Given the description of an element on the screen output the (x, y) to click on. 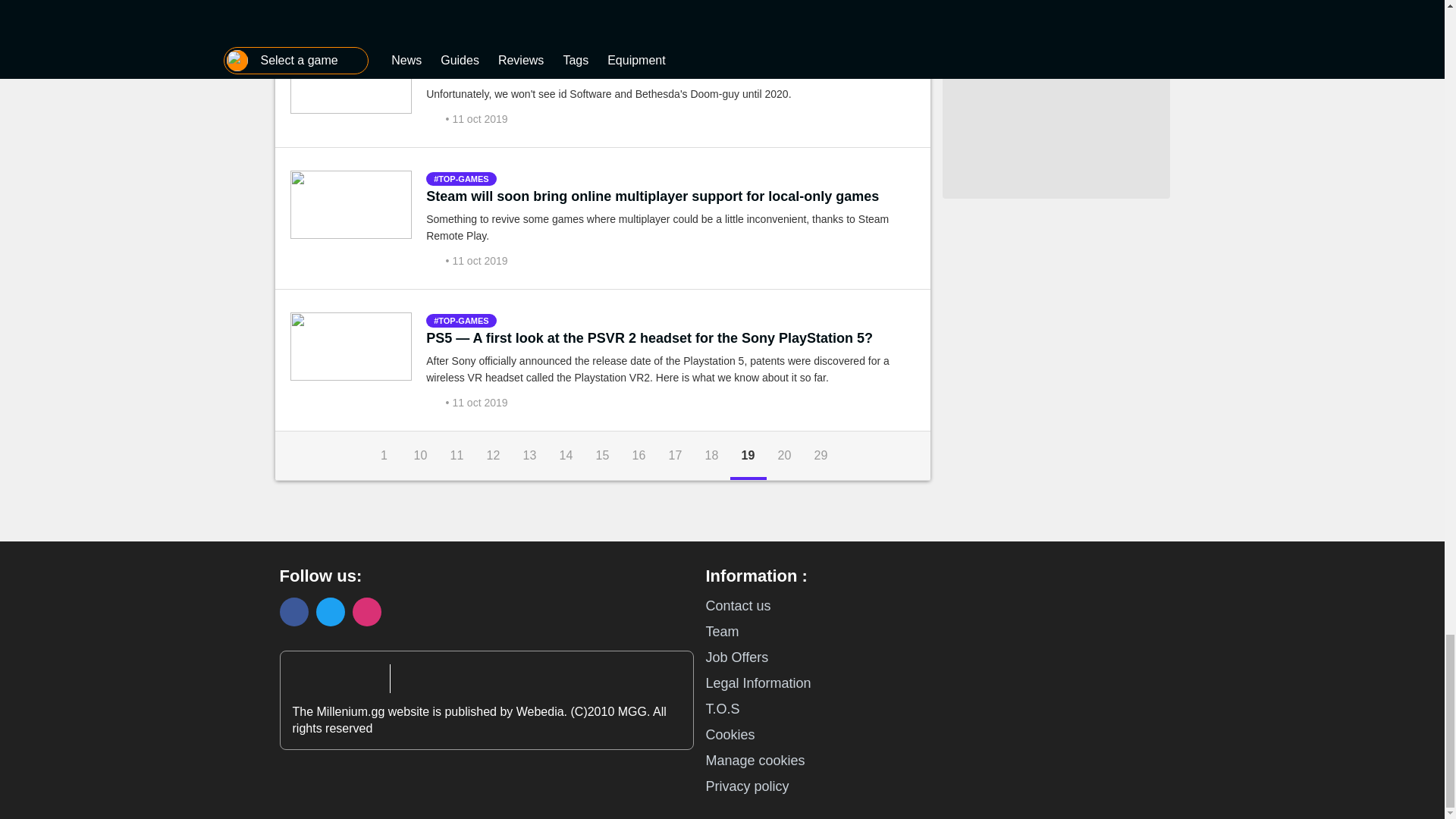
DOOM Eternal release date has been postponed to March 2020 (629, 70)
